Given the description of an element on the screen output the (x, y) to click on. 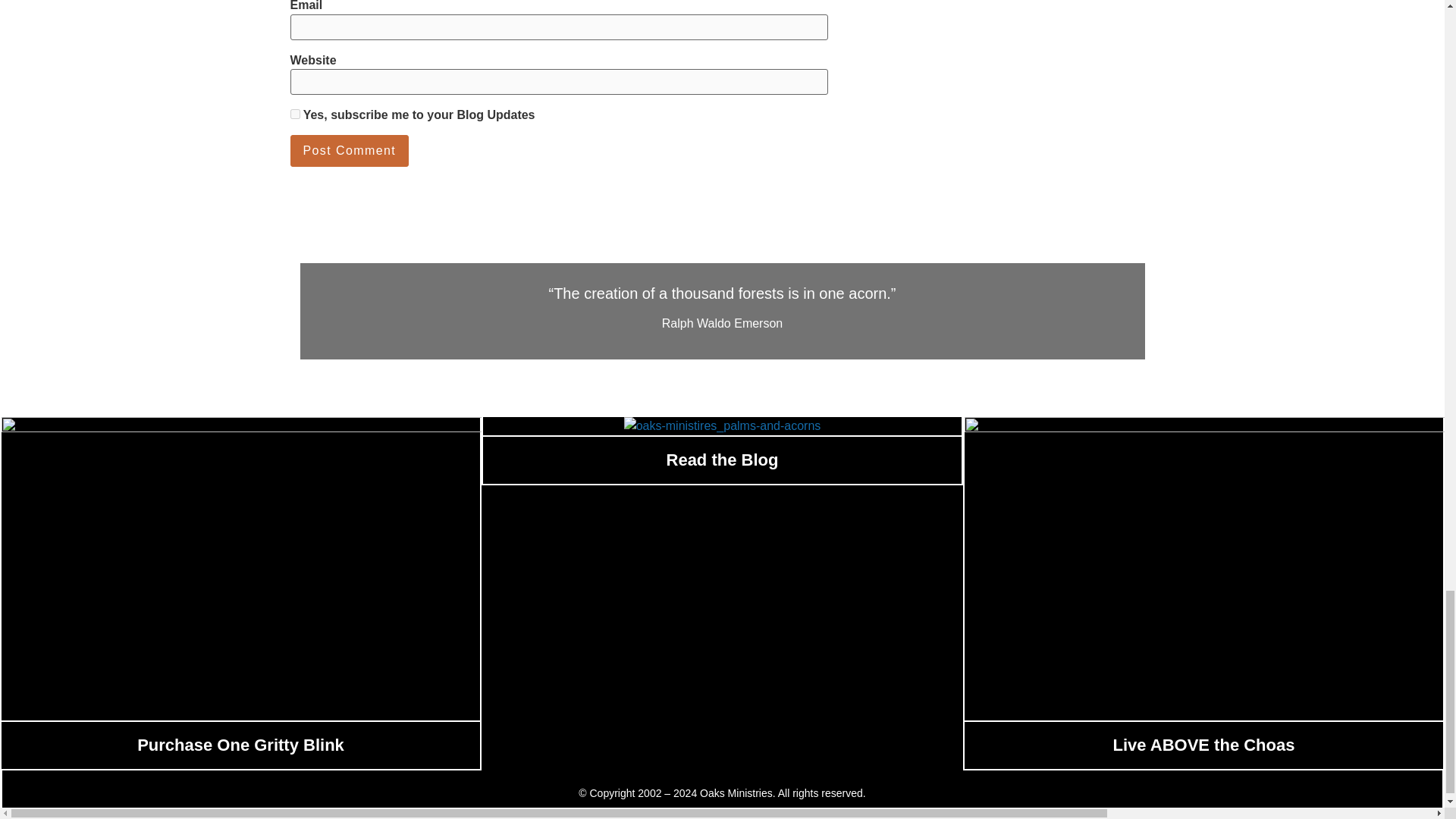
Live ABOVE the Choas (1203, 744)
Post Comment (349, 151)
1 (294, 113)
Read the Blog (722, 459)
Post Comment (349, 151)
